Given the description of an element on the screen output the (x, y) to click on. 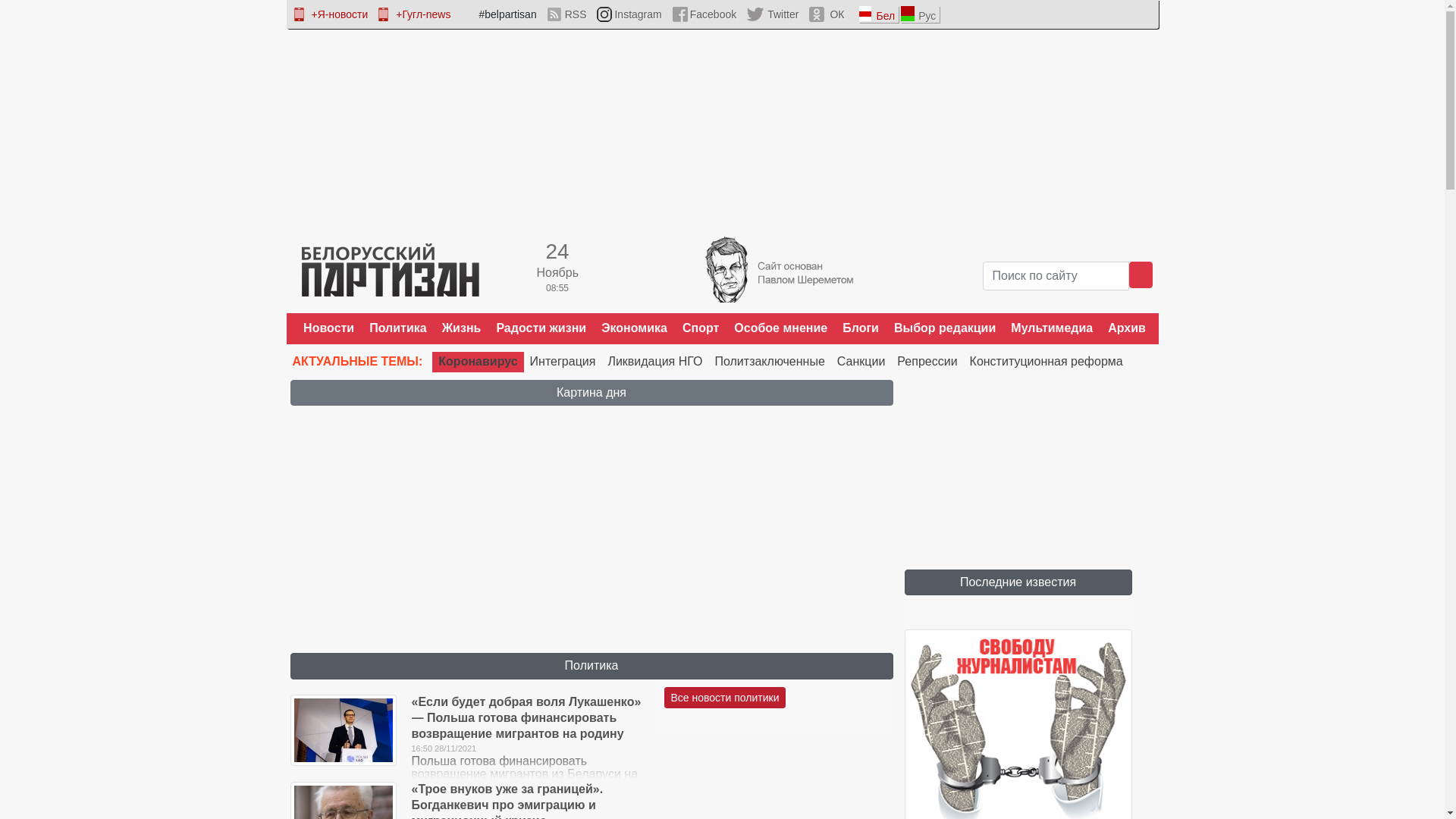
Facebook Element type: text (704, 14)
Twitter Element type: text (772, 14)
  Element type: text (1140, 274)
RSS Element type: text (566, 14)
#belpartisan Element type: text (498, 14)
Instagram Element type: text (628, 14)
